Given the description of an element on the screen output the (x, y) to click on. 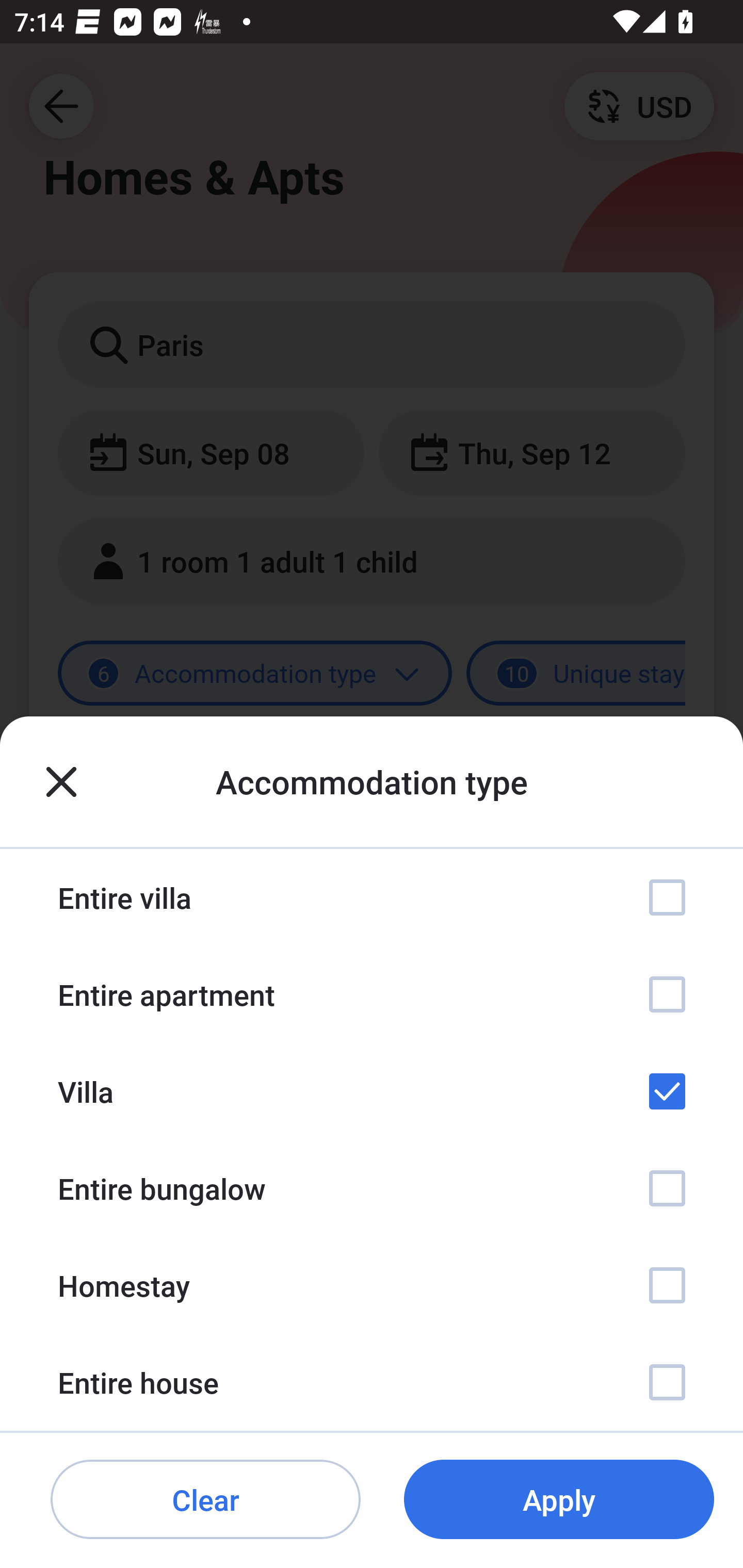
Entire villa (371, 897)
Entire apartment (371, 994)
Villa (371, 1091)
Entire bungalow (371, 1188)
Homestay (371, 1284)
Entire house (371, 1382)
Clear (205, 1499)
Apply (559, 1499)
